Given the description of an element on the screen output the (x, y) to click on. 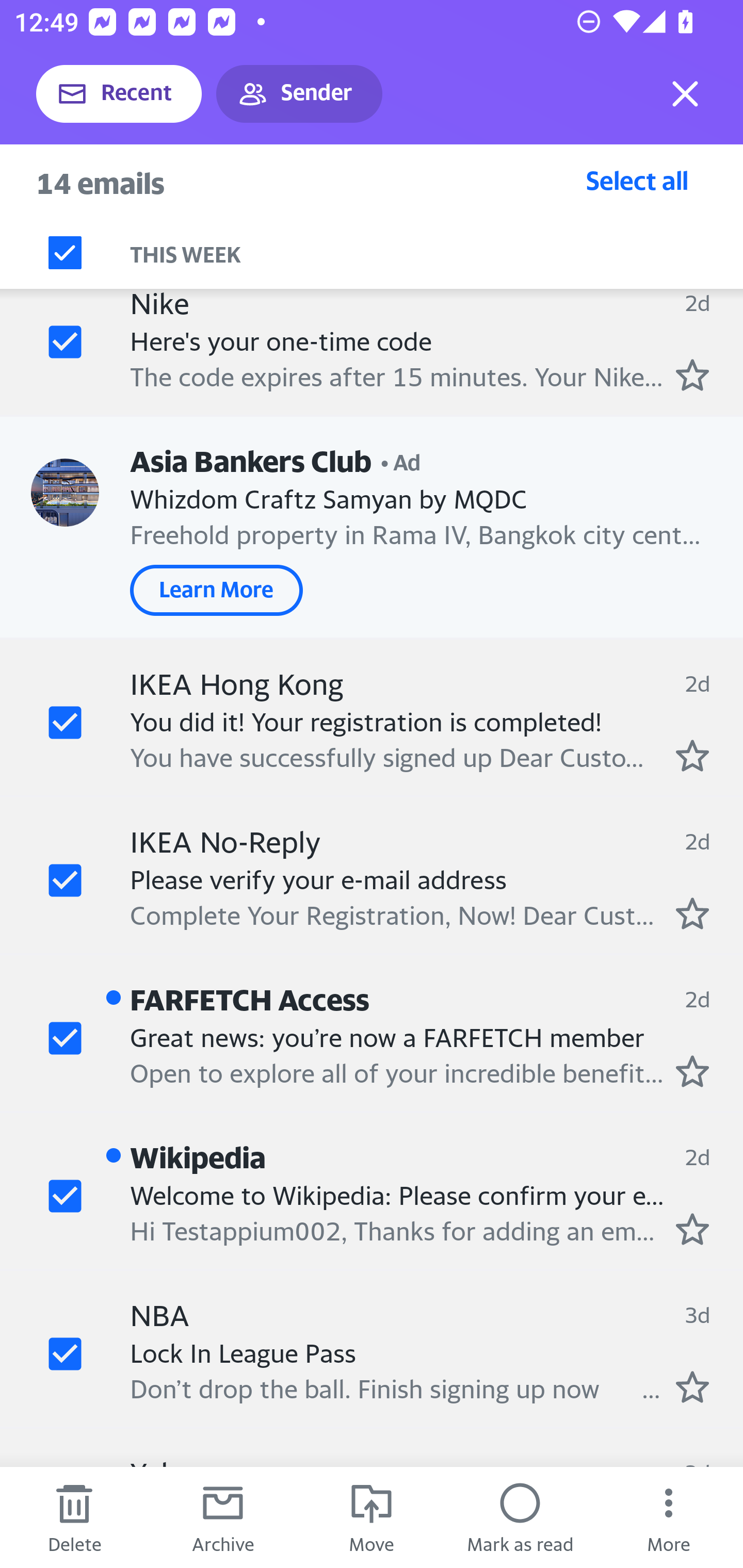
Sender (299, 93)
Exit selection mode (684, 93)
Select all (637, 180)
Mark as starred. (692, 375)
Mark as starred. (692, 754)
Mark as starred. (692, 913)
Mark as starred. (692, 1071)
Mark as starred. (692, 1228)
Mark as starred. (692, 1386)
Delete (74, 1517)
Archive (222, 1517)
Move (371, 1517)
Mark as read (519, 1517)
More (668, 1517)
